Given the description of an element on the screen output the (x, y) to click on. 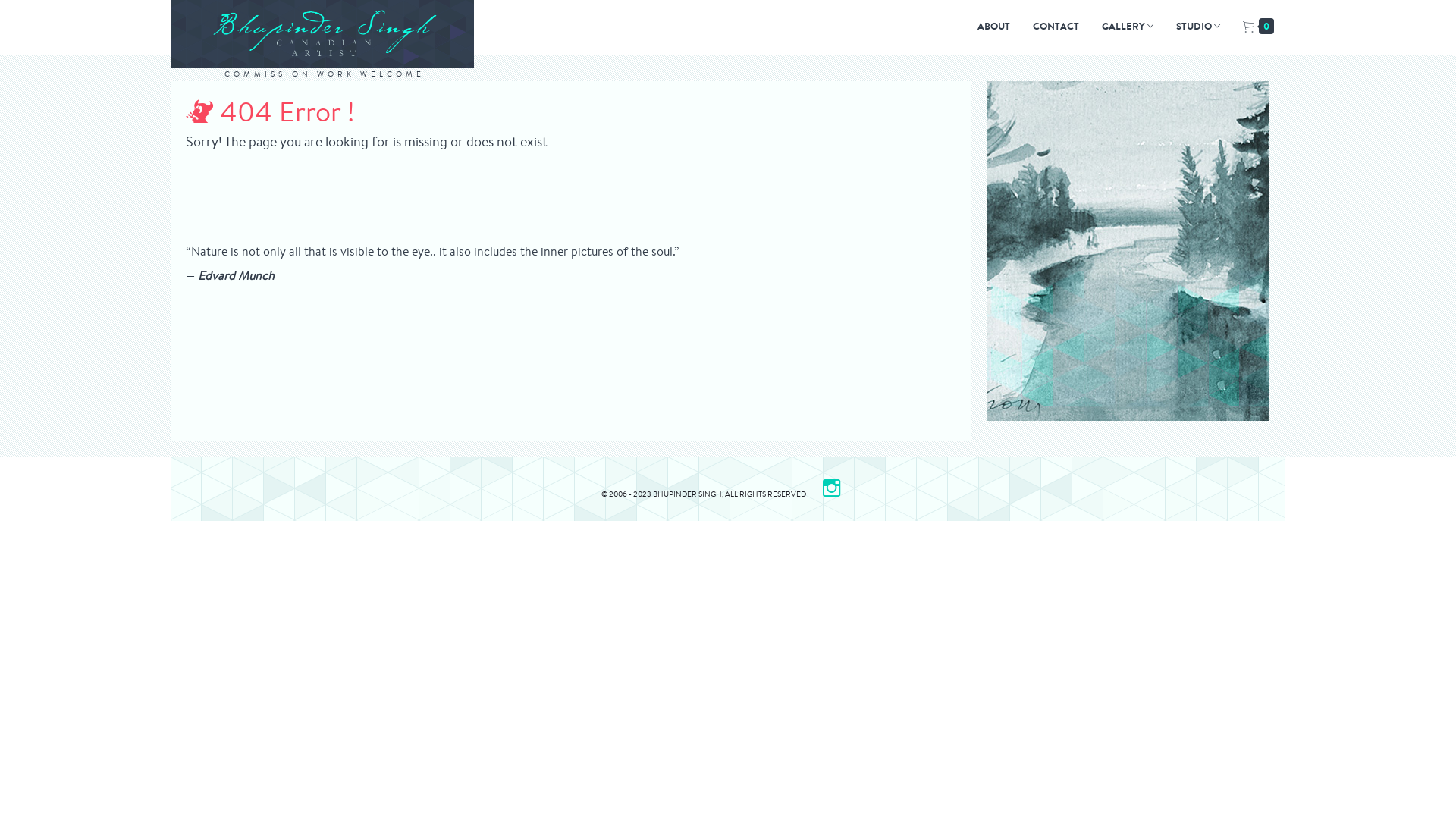
0 Element type: text (1258, 26)
ABOUT Element type: text (993, 26)
STUDIO Element type: text (1197, 26)
CONTACT Element type: text (1055, 26)
GALLERY Element type: text (1127, 26)
